Given the description of an element on the screen output the (x, y) to click on. 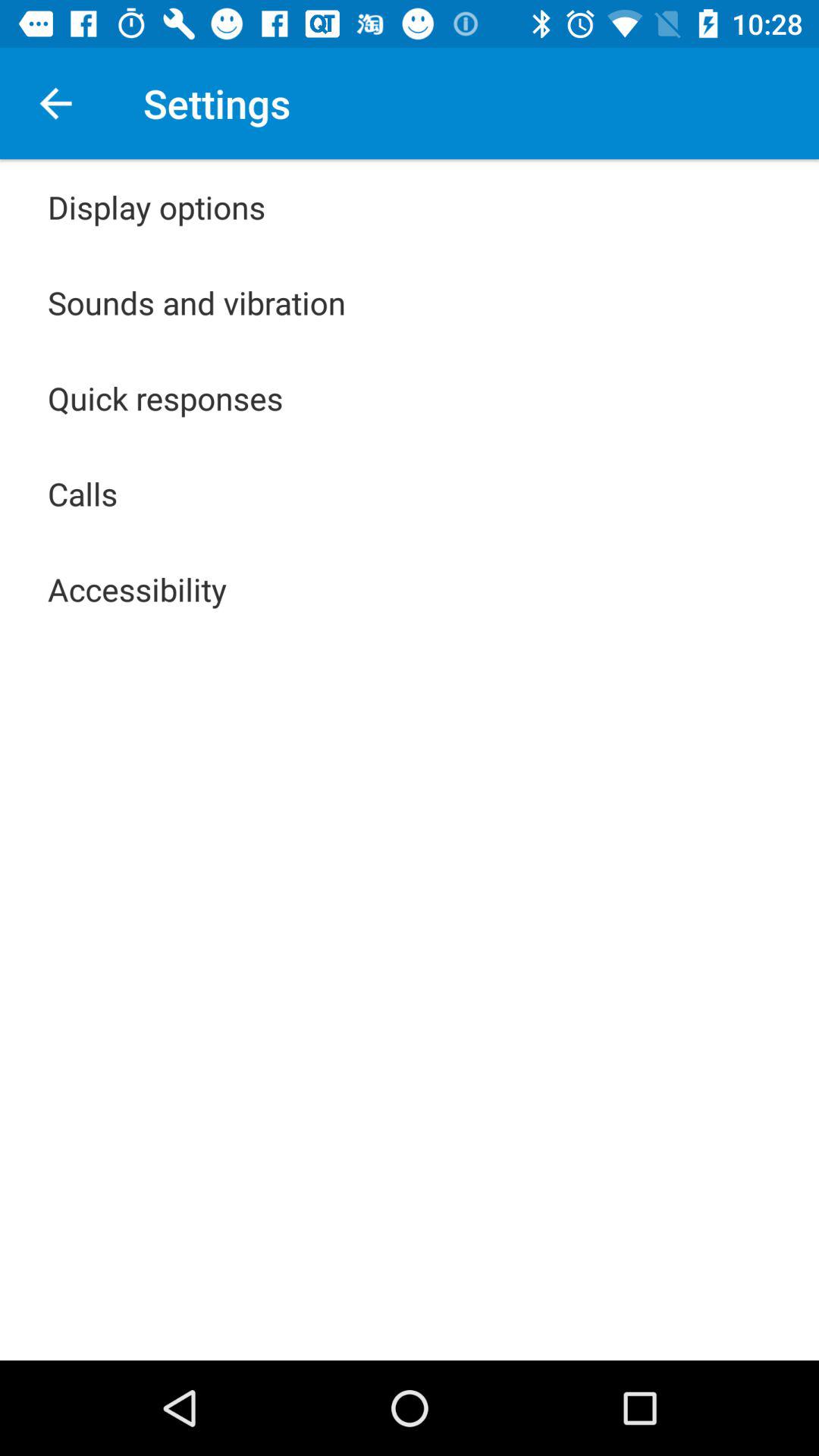
turn off icon to the left of the settings app (55, 103)
